Given the description of an element on the screen output the (x, y) to click on. 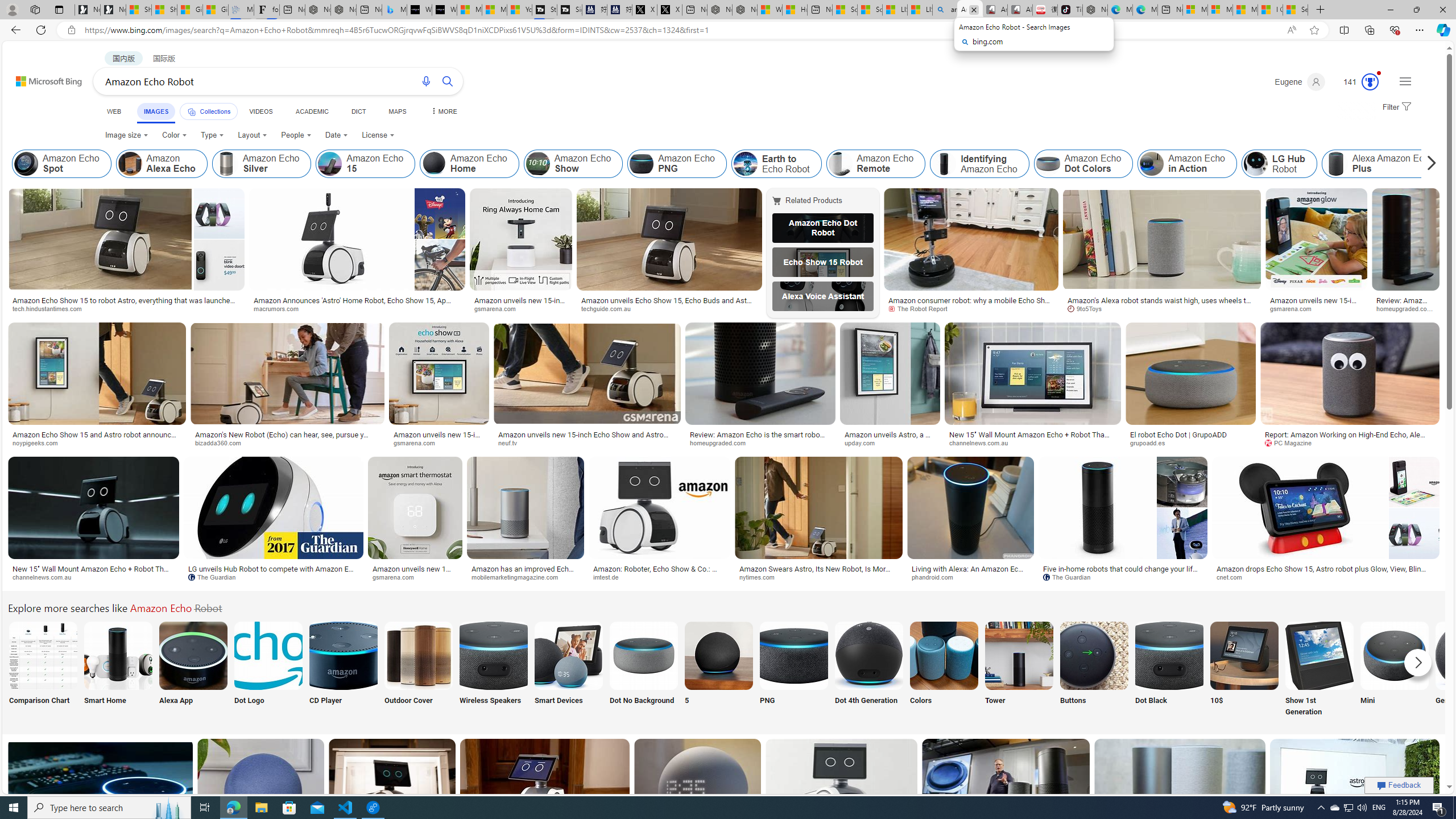
Alexa Voice Assistant Robot (822, 296)
Mini (1393, 669)
cnet.com (1233, 576)
Amazon Echo Buttons (1093, 654)
Microsoft Bing Travel - Shangri-La Hotel Bangkok (394, 9)
Search button (447, 80)
noypigeeks.com (97, 442)
